Given the description of an element on the screen output the (x, y) to click on. 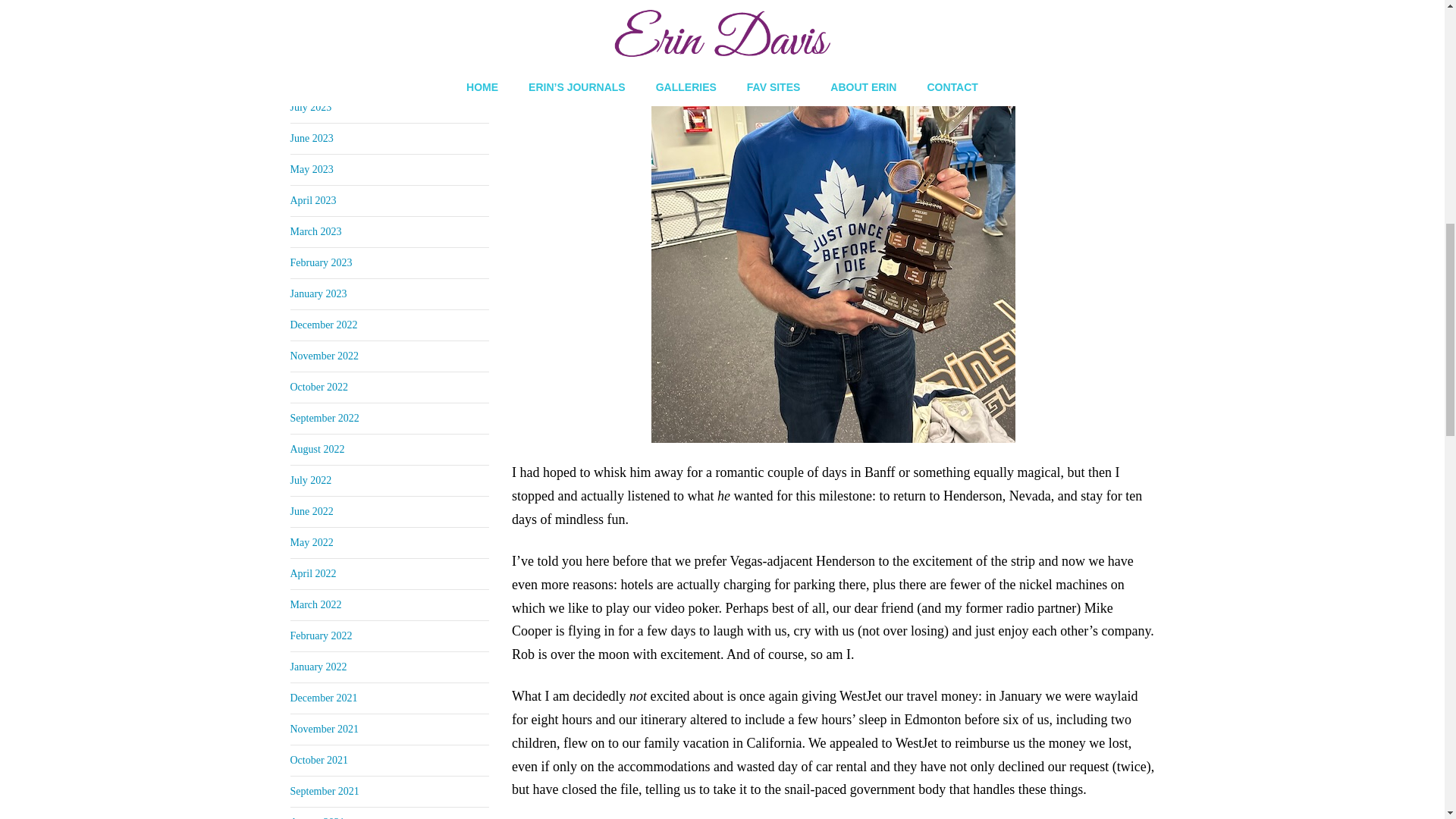
October 2023 (318, 13)
August 2023 (316, 75)
September 2023 (323, 44)
